Given the description of an element on the screen output the (x, y) to click on. 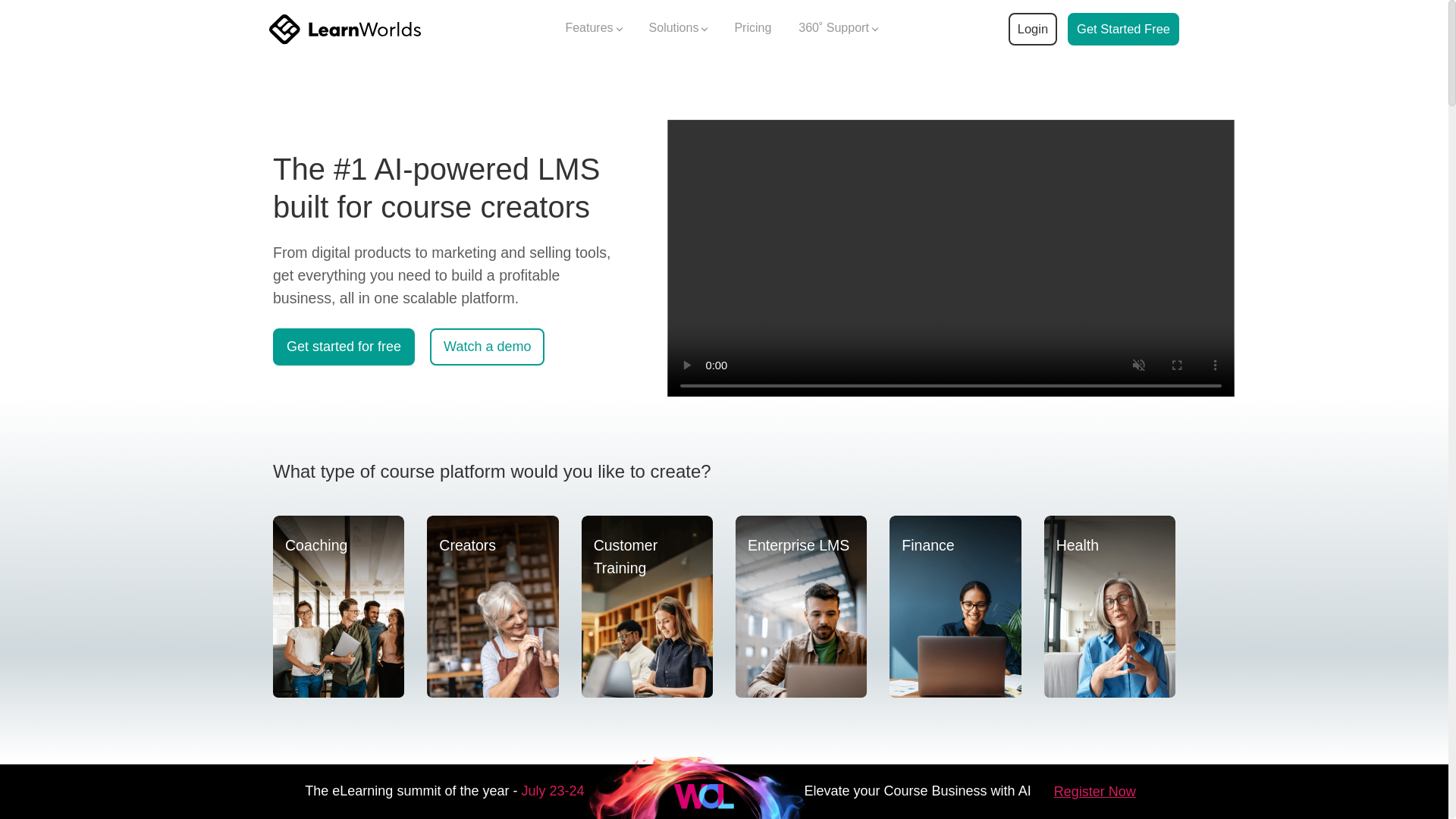
Start your demo with LearnWorlds (1123, 29)
Login to your LearnWorlds account (1032, 29)
Chat (1417, 691)
LearnWorlds home (344, 28)
Features (592, 29)
